Given the description of an element on the screen output the (x, y) to click on. 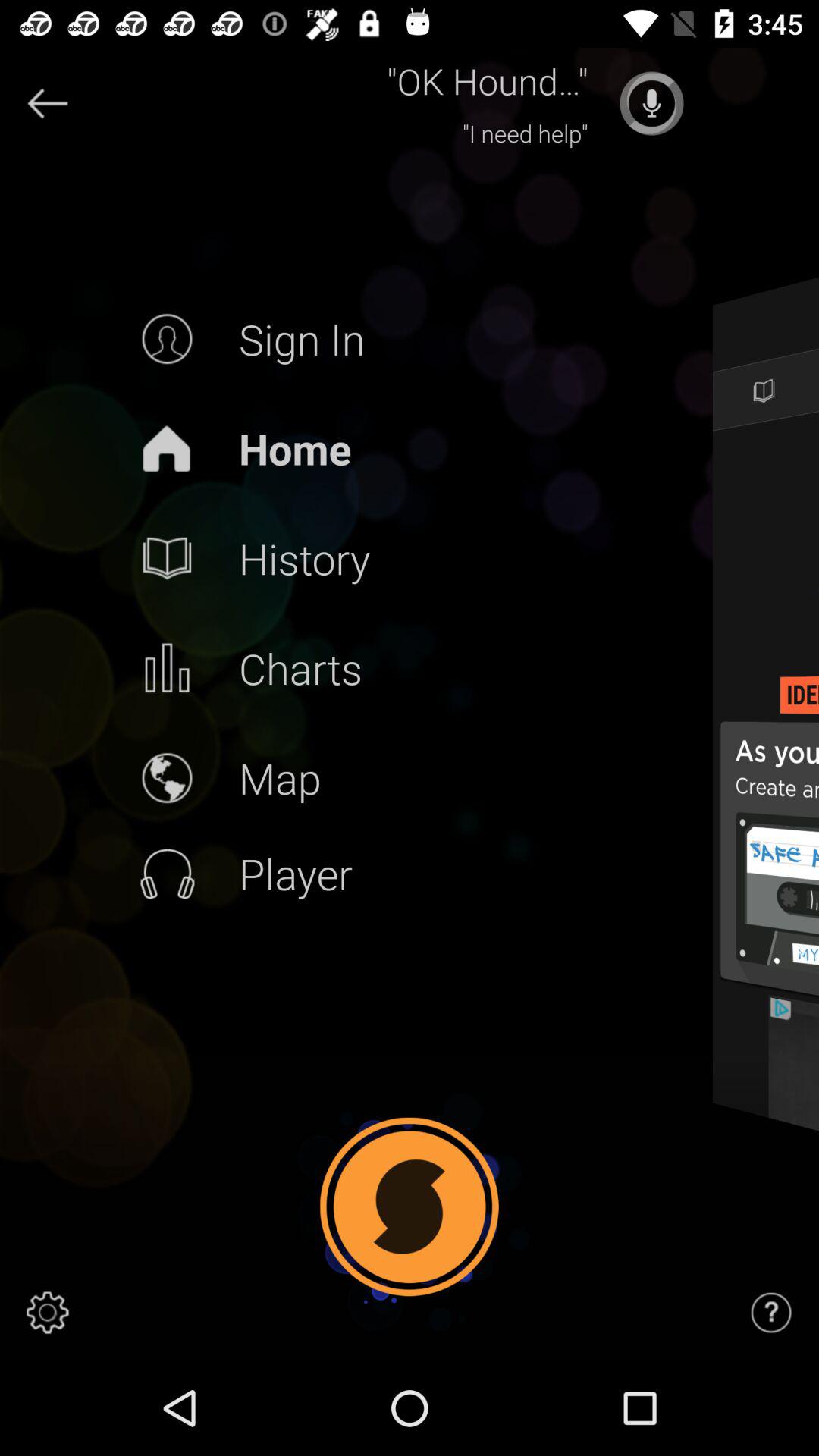
back button (47, 103)
